Given the description of an element on the screen output the (x, y) to click on. 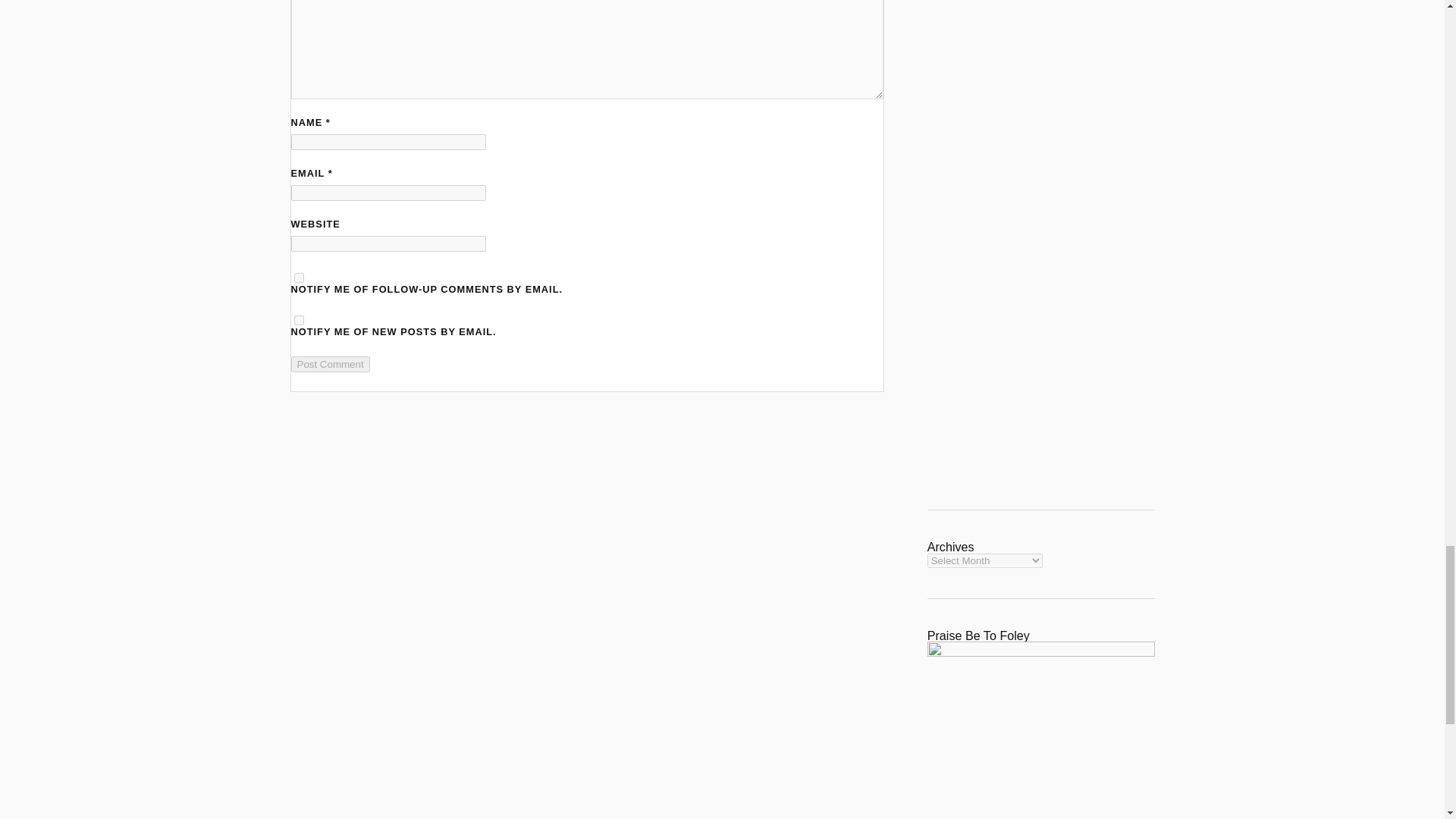
subscribe (299, 320)
subscribe (299, 277)
Post Comment (330, 364)
Post Comment (330, 364)
